Given the description of an element on the screen output the (x, y) to click on. 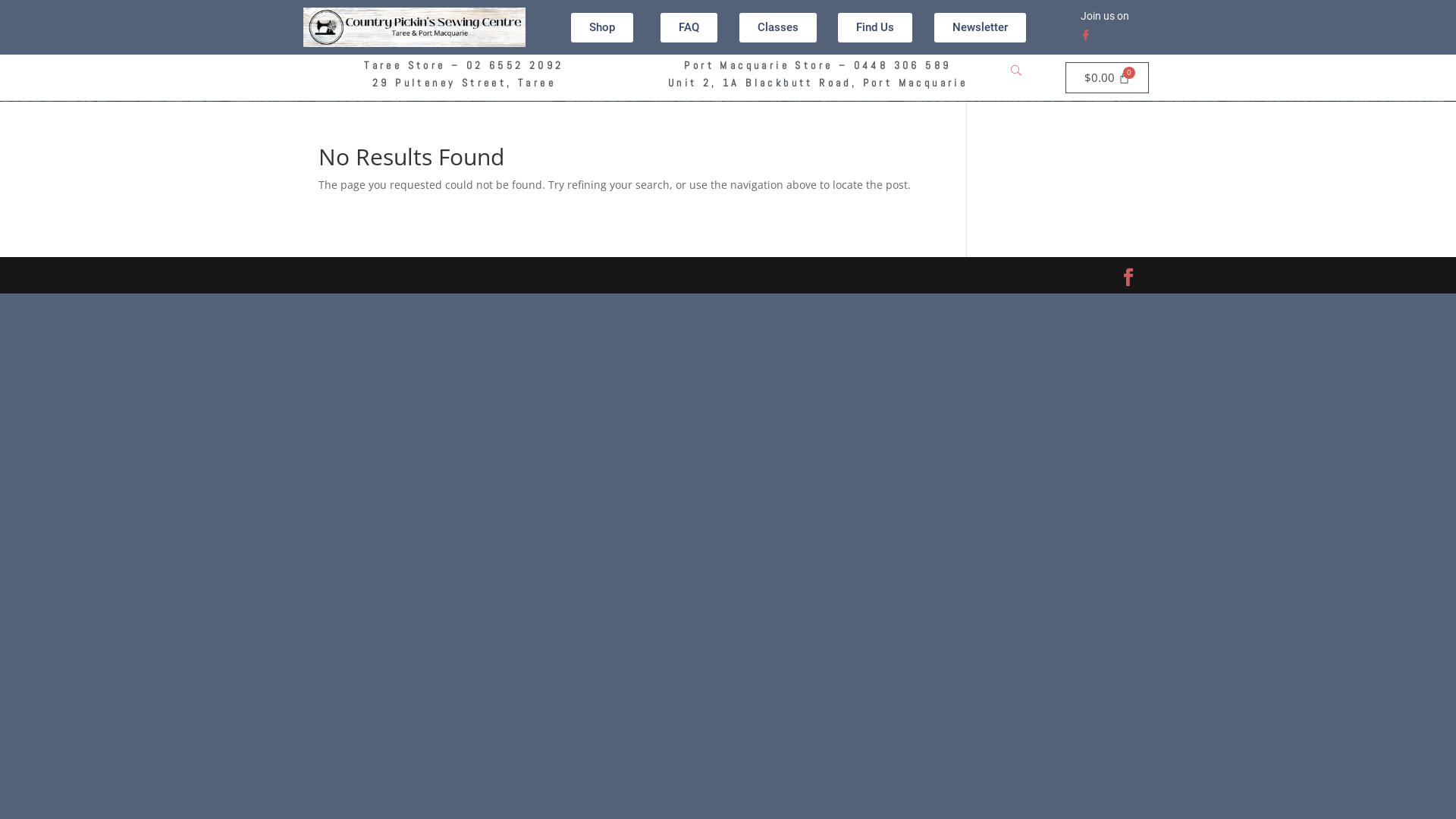
FAQ Element type: text (688, 27)
Find Us Element type: text (874, 27)
Classes Element type: text (777, 27)
$0.00 Element type: text (1106, 77)
Newsletter Element type: text (980, 27)
Shop Element type: text (602, 27)
